Given the description of an element on the screen output the (x, y) to click on. 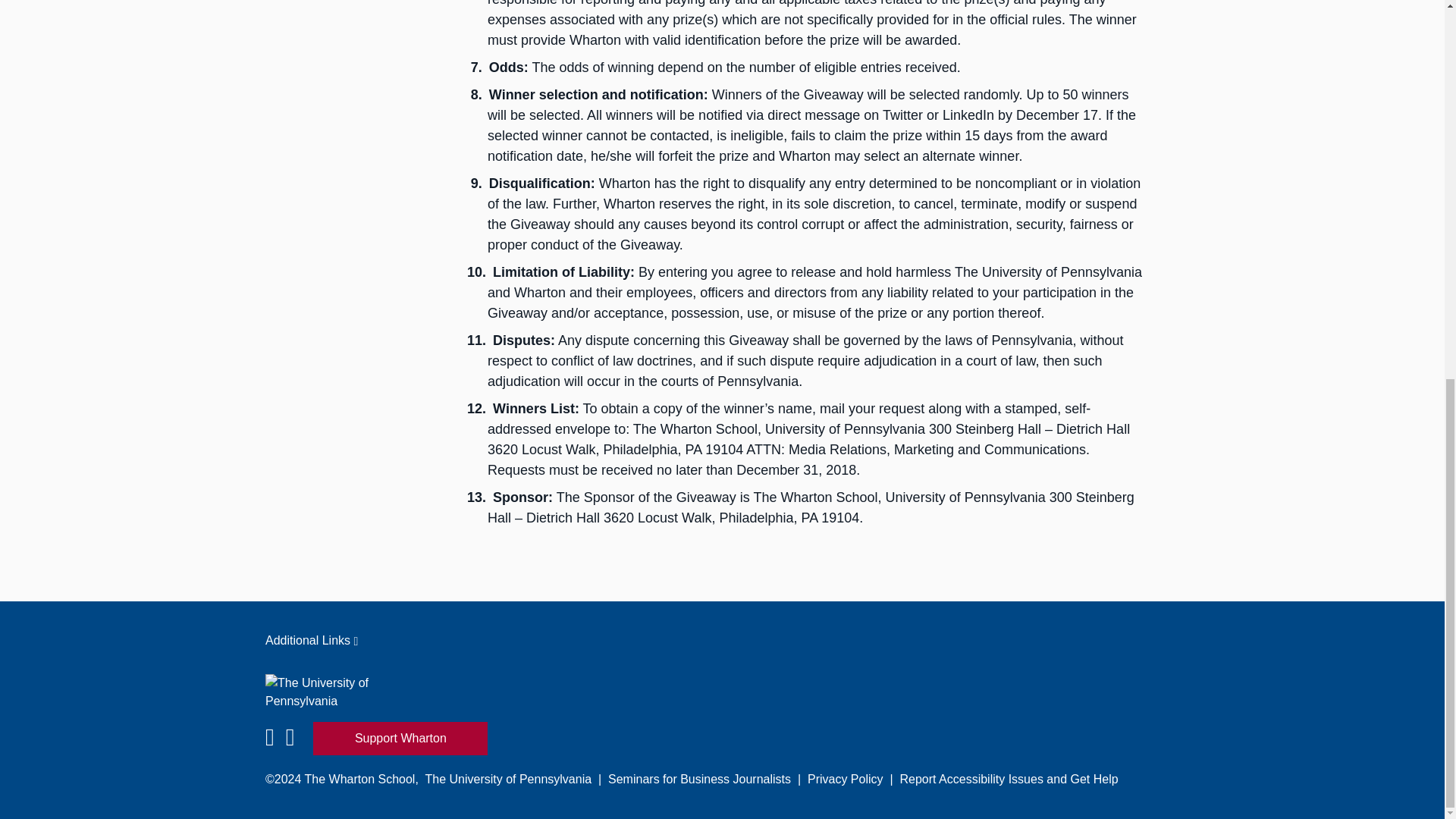
Additional Links (721, 640)
Seminars for Business Journalists (699, 779)
Additional Links (721, 640)
Give to Wharton (400, 738)
